Given the description of an element on the screen output the (x, y) to click on. 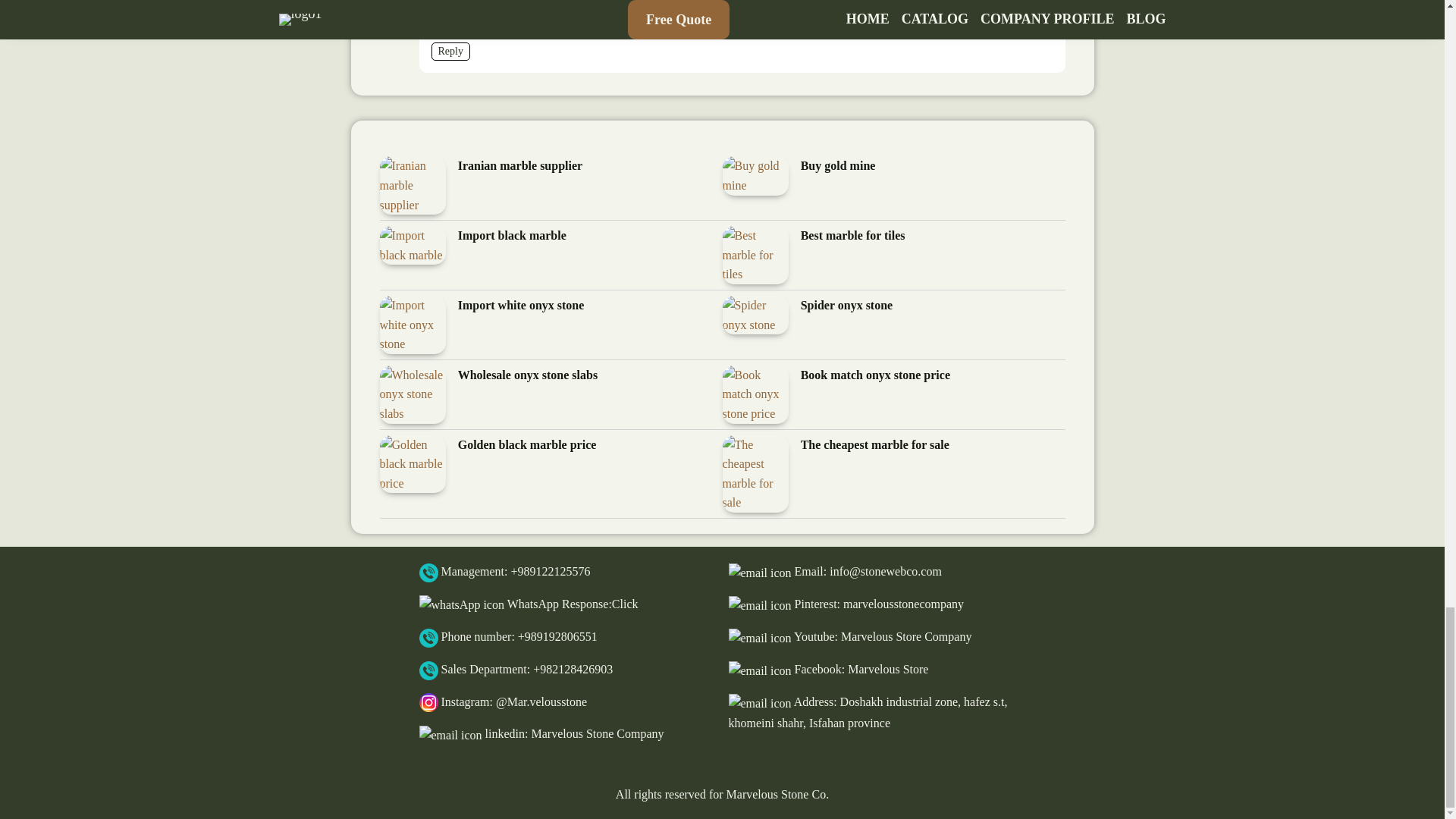
Buy gold mine (838, 166)
Spider onyx stone (846, 305)
Iranian marble supplier (520, 166)
Wholesale onyx stone slabs (527, 375)
Import black marble (512, 236)
Import white onyx stone (521, 305)
Best marble for tiles (852, 236)
Reply (449, 50)
